Given the description of an element on the screen output the (x, y) to click on. 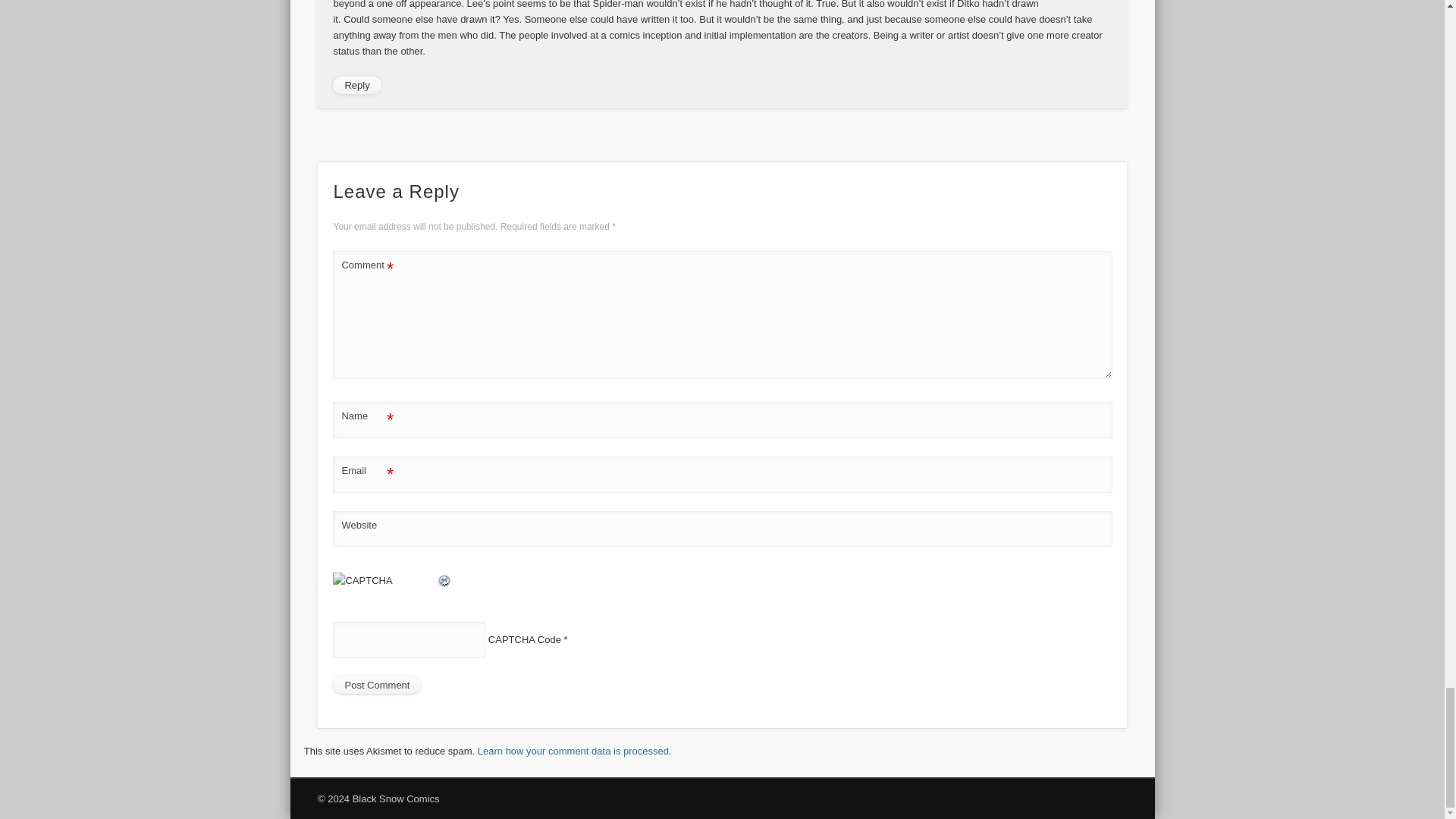
Reply (356, 85)
Learn how your comment data is processed (572, 750)
CAPTCHA (384, 589)
Post Comment (376, 685)
Refresh (444, 580)
Post Comment (376, 685)
